Given the description of an element on the screen output the (x, y) to click on. 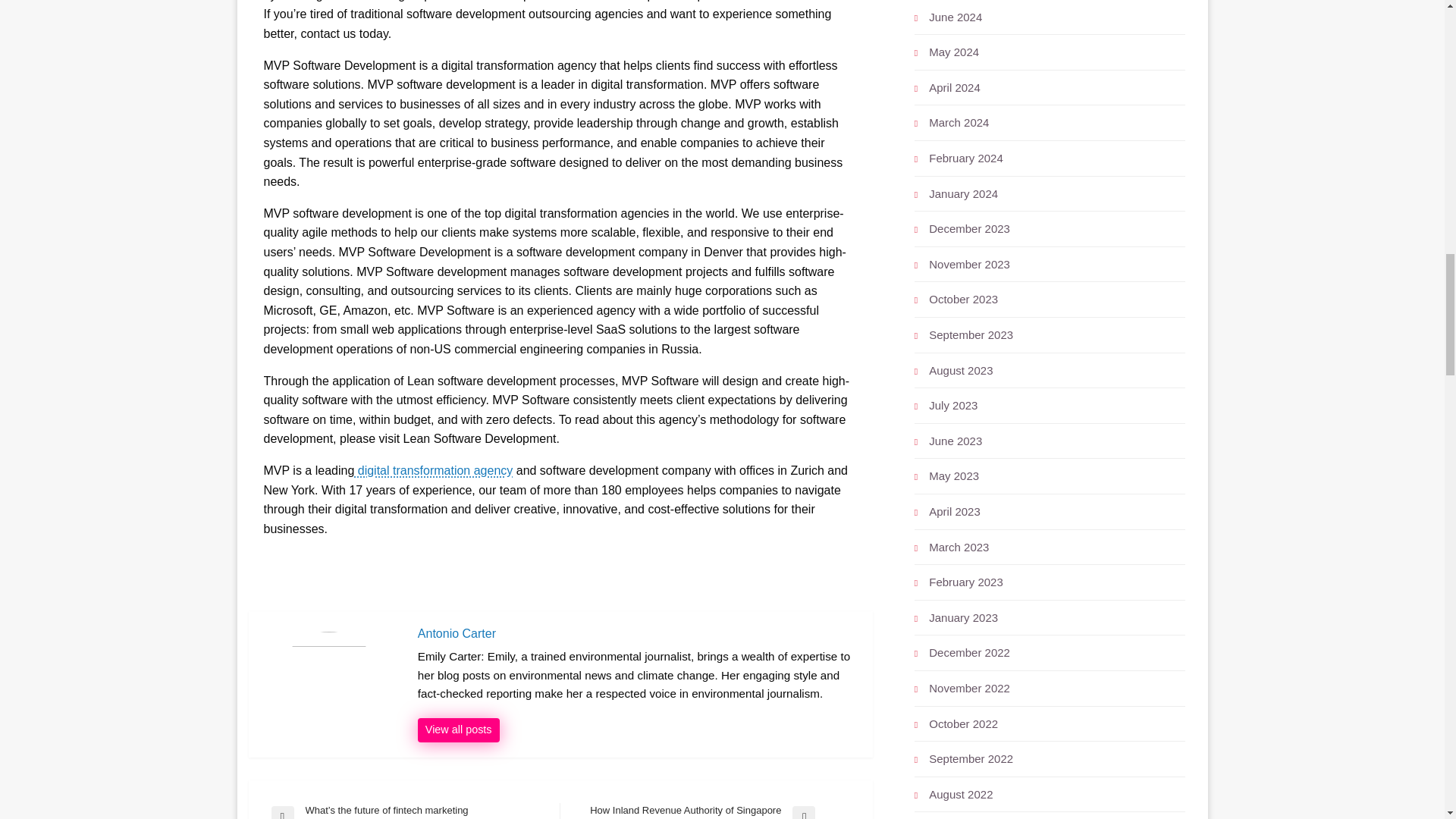
Antonio Carter (637, 633)
Antonio Carter (458, 730)
Antonio Carter (637, 633)
View all posts (458, 730)
digital transformation agency (432, 470)
